Given the description of an element on the screen output the (x, y) to click on. 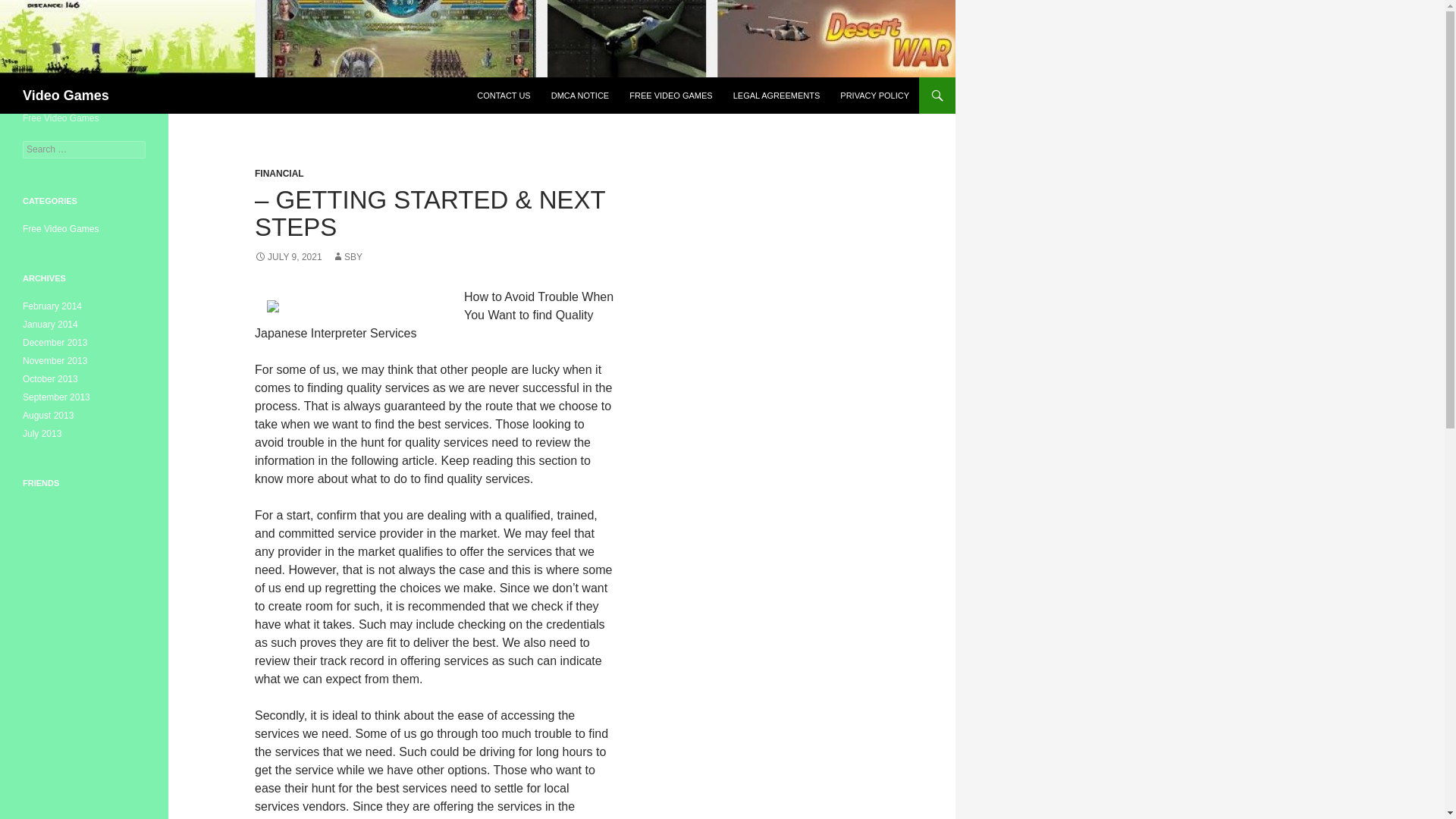
August 2013 (48, 415)
JULY 9, 2021 (287, 256)
PRIVACY POLICY (874, 94)
FREE VIDEO GAMES (670, 94)
Video Games (66, 95)
DMCA NOTICE (579, 94)
CONTACT US (503, 94)
Search (30, 8)
Free Video Games (61, 228)
Search for: (84, 149)
FINANCIAL (279, 173)
July 2013 (42, 433)
December 2013 (55, 342)
